Given the description of an element on the screen output the (x, y) to click on. 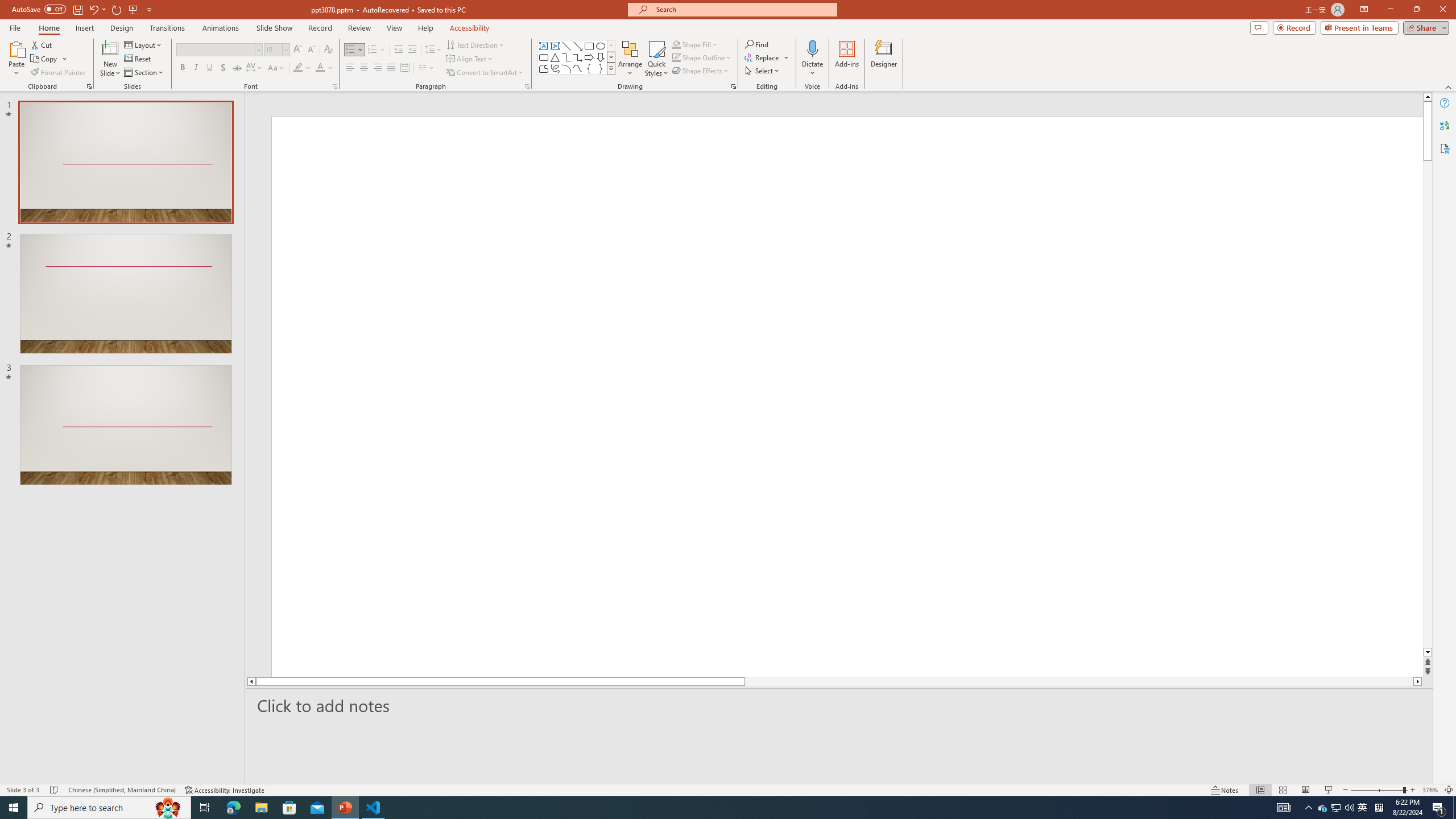
Title TextBox (790, 476)
An abstract genetic concept (834, 395)
